Given the description of an element on the screen output the (x, y) to click on. 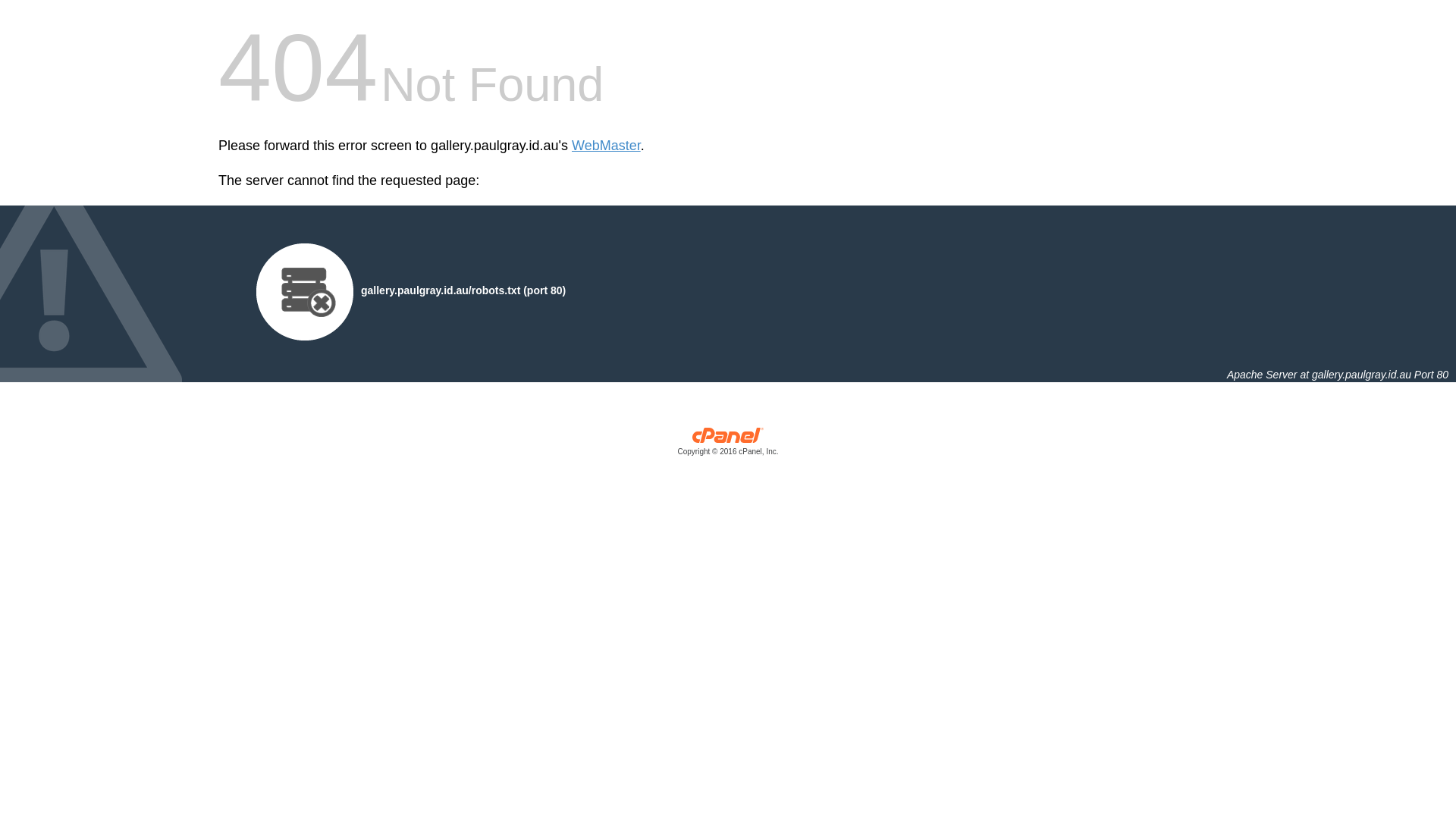
WebMaster Element type: text (605, 145)
